Given the description of an element on the screen output the (x, y) to click on. 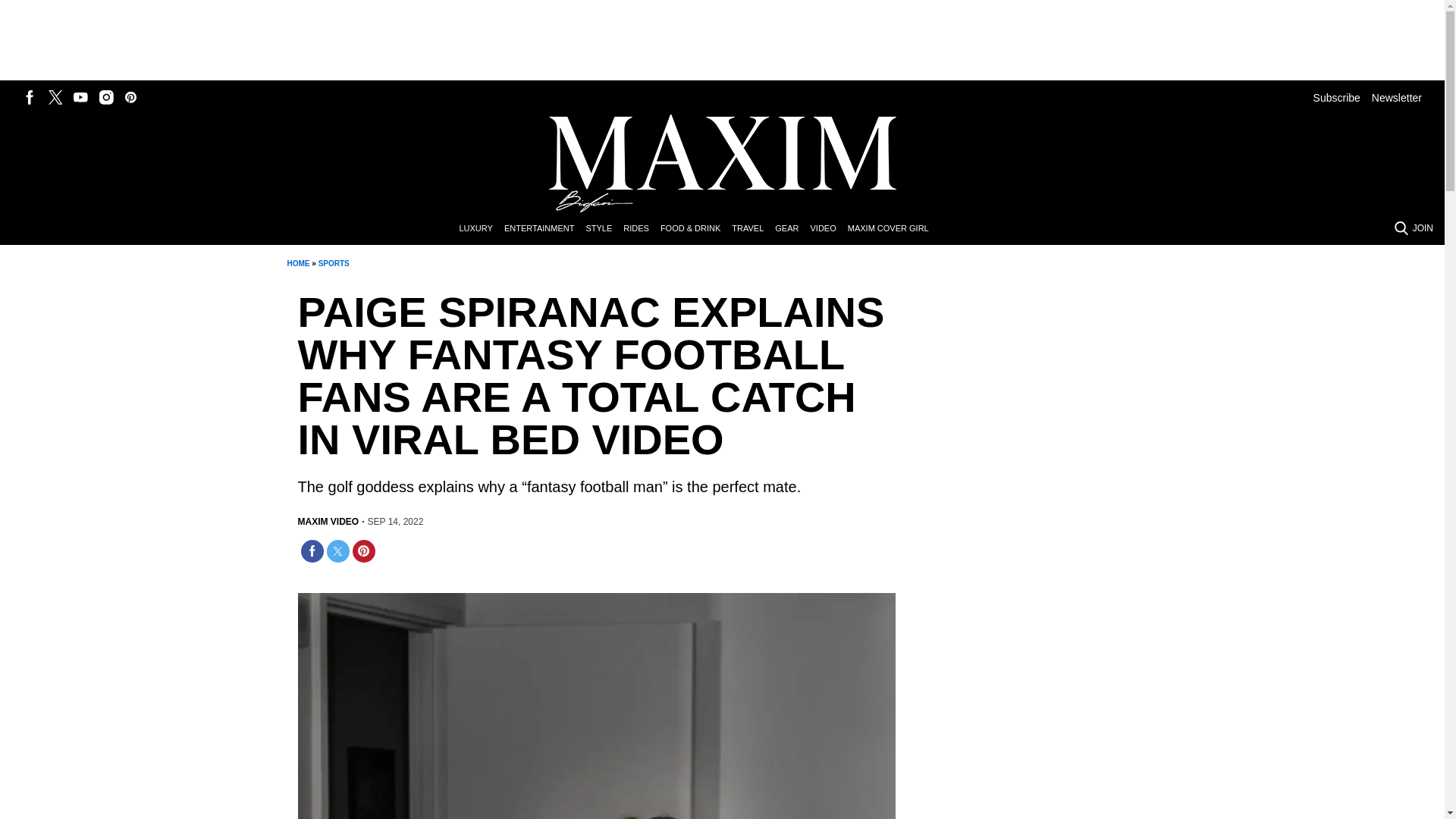
RIDES (642, 228)
STYLE (604, 228)
Share on Facebook (311, 550)
VIDEO (828, 228)
MAXIM VIDEO (327, 521)
Posts by Maxim Video (327, 521)
Newsletter (1396, 97)
Subscribe (1336, 97)
ENTERTAINMENT (544, 228)
HOME (297, 263)
TRAVEL (753, 228)
Share on Twitter (337, 550)
SPORTS (333, 263)
Follow us on Instagram (106, 97)
Follow us on Youtube (80, 97)
